Given the description of an element on the screen output the (x, y) to click on. 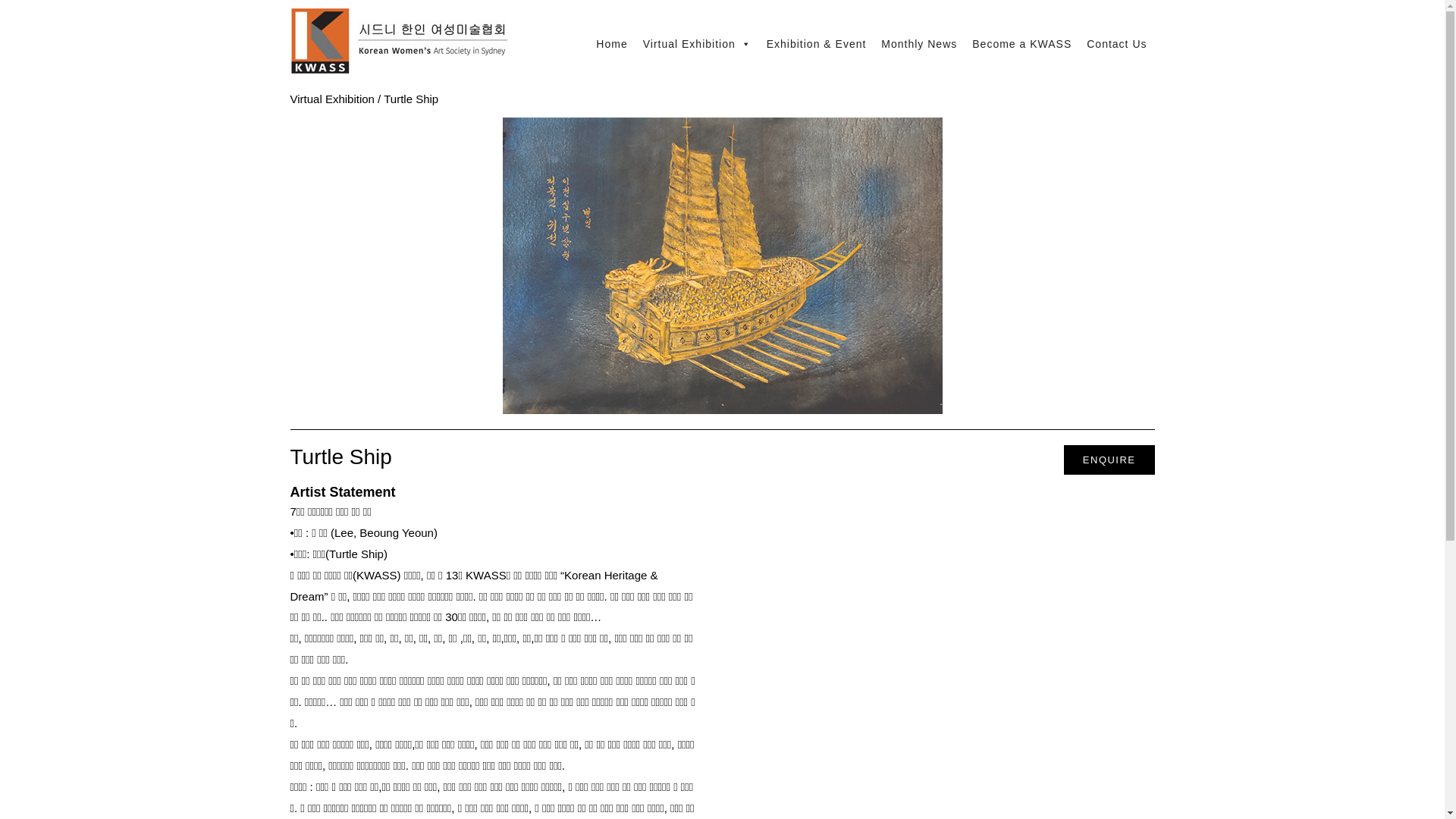
Virtual Exhibition Element type: text (331, 98)
Virtual Exhibition Element type: text (697, 43)
Turtle Ship Element type: text (410, 98)
Home Element type: text (611, 43)
Monthly News Element type: text (918, 43)
Home Element type: text (401, 44)
Contact Us Element type: text (1116, 43)
Exhibition & Event Element type: text (816, 43)
ENQUIRE Element type: text (1108, 459)
Become a KWASS Element type: text (1021, 43)
